Given the description of an element on the screen output the (x, y) to click on. 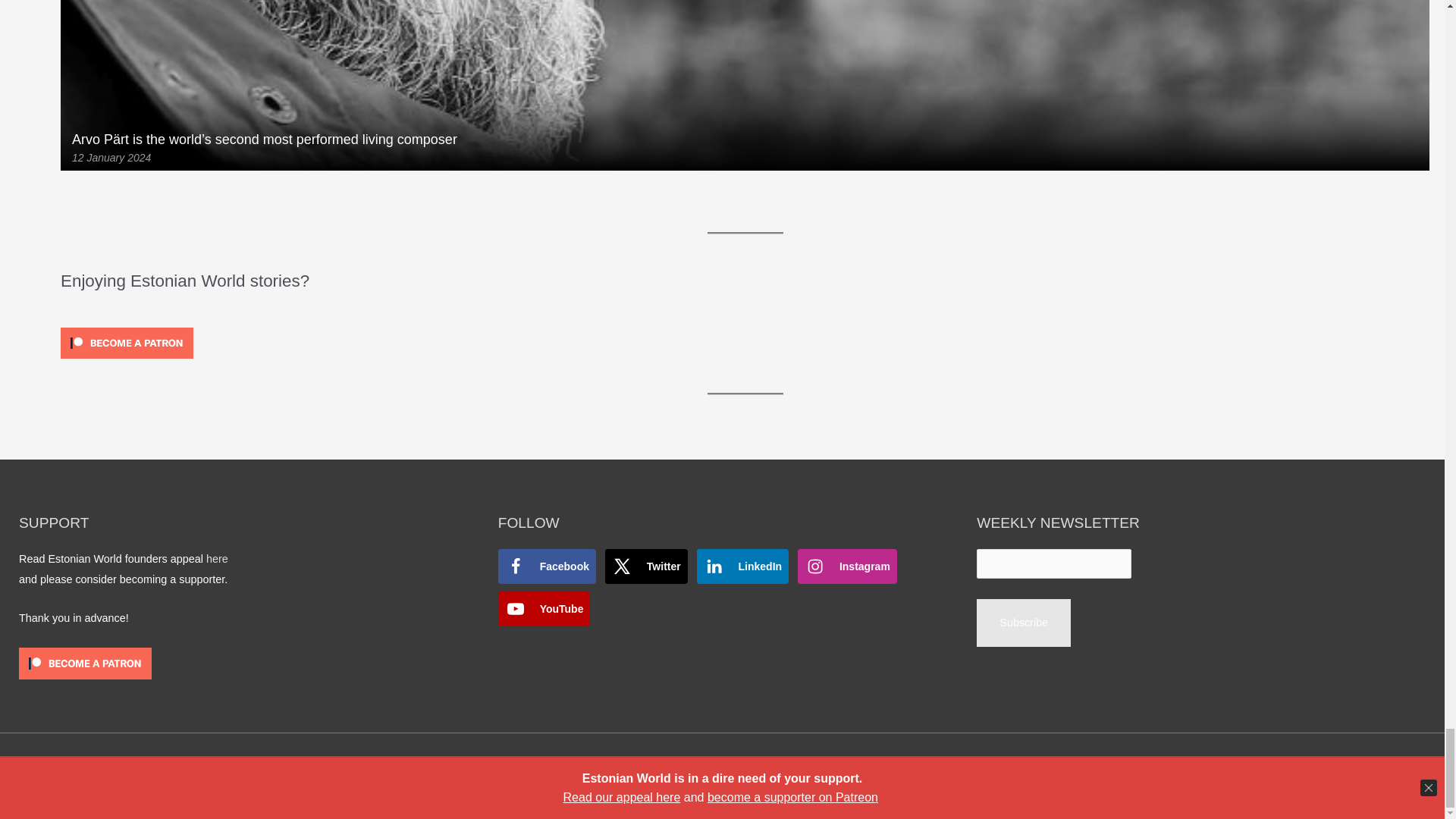
Follow on Facebook (546, 565)
Subscribe (1023, 622)
Follow on X (646, 565)
